Given the description of an element on the screen output the (x, y) to click on. 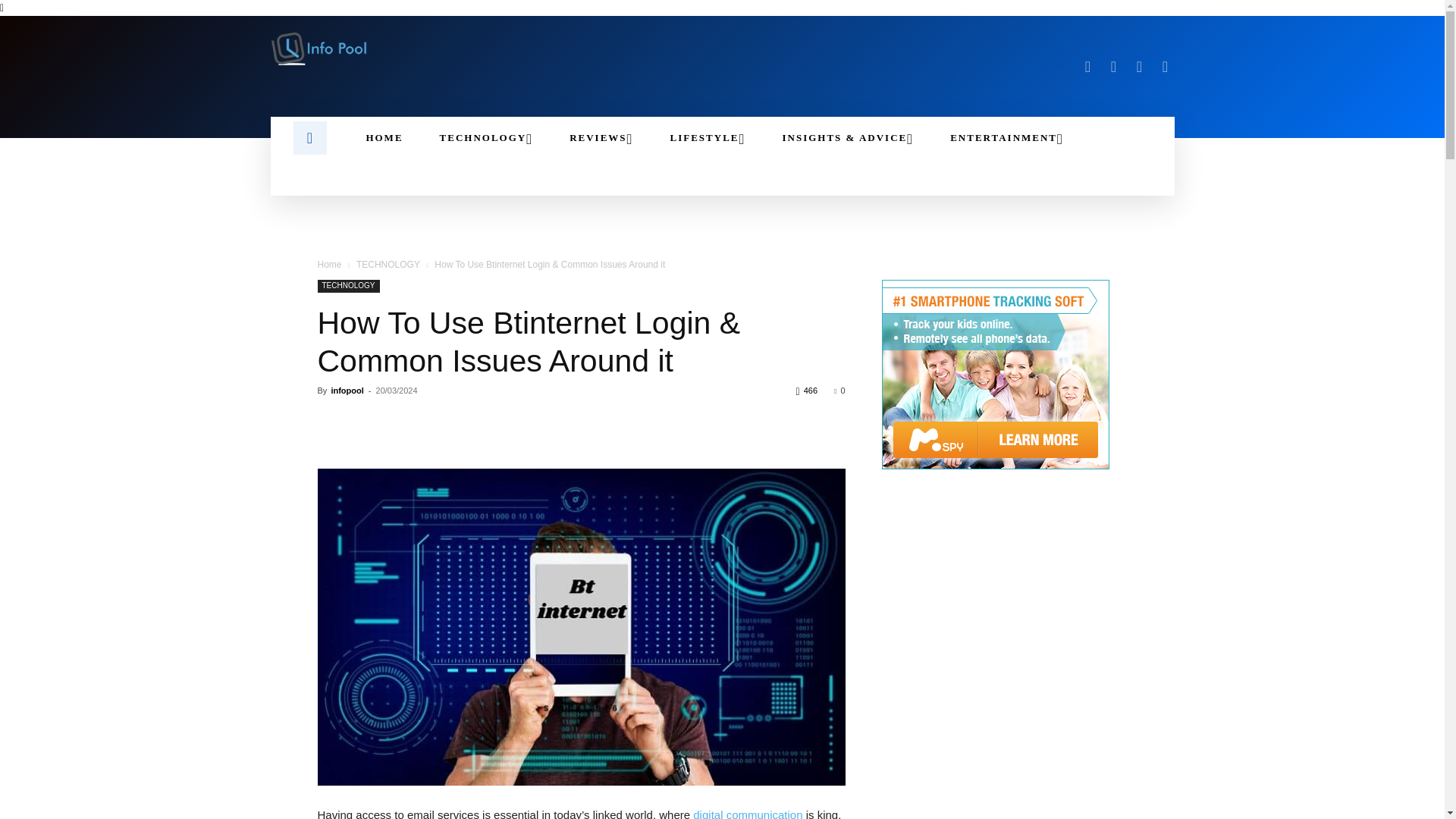
Mail (1112, 66)
Facebook (1087, 66)
Twitter (1138, 66)
Youtube (1164, 66)
View all posts in TECHNOLOGY (388, 264)
